Given the description of an element on the screen output the (x, y) to click on. 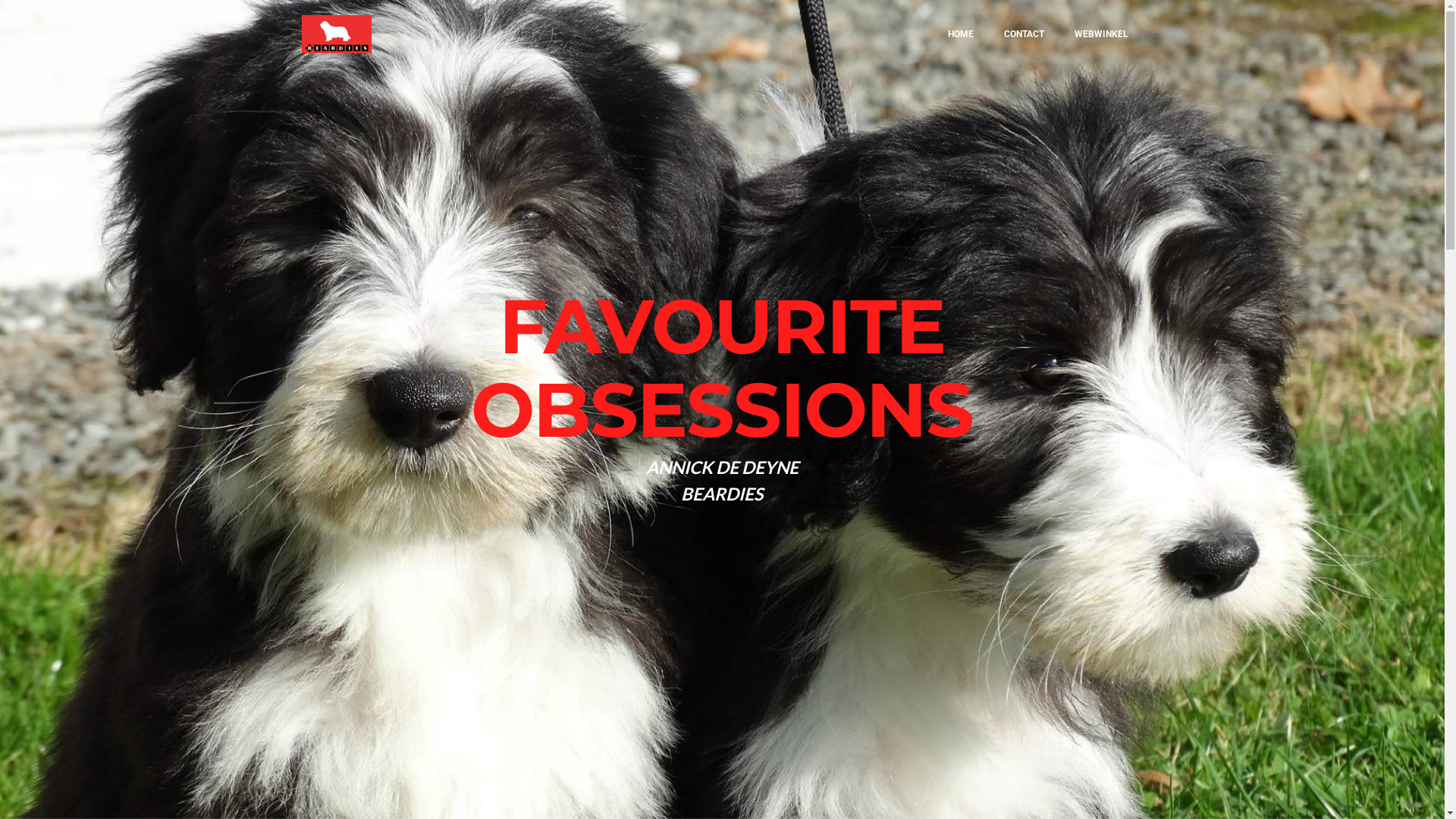
CONTACT Element type: text (1024, 33)
HOME Element type: text (960, 33)
WEBWINKEL Element type: text (1100, 33)
